Given the description of an element on the screen output the (x, y) to click on. 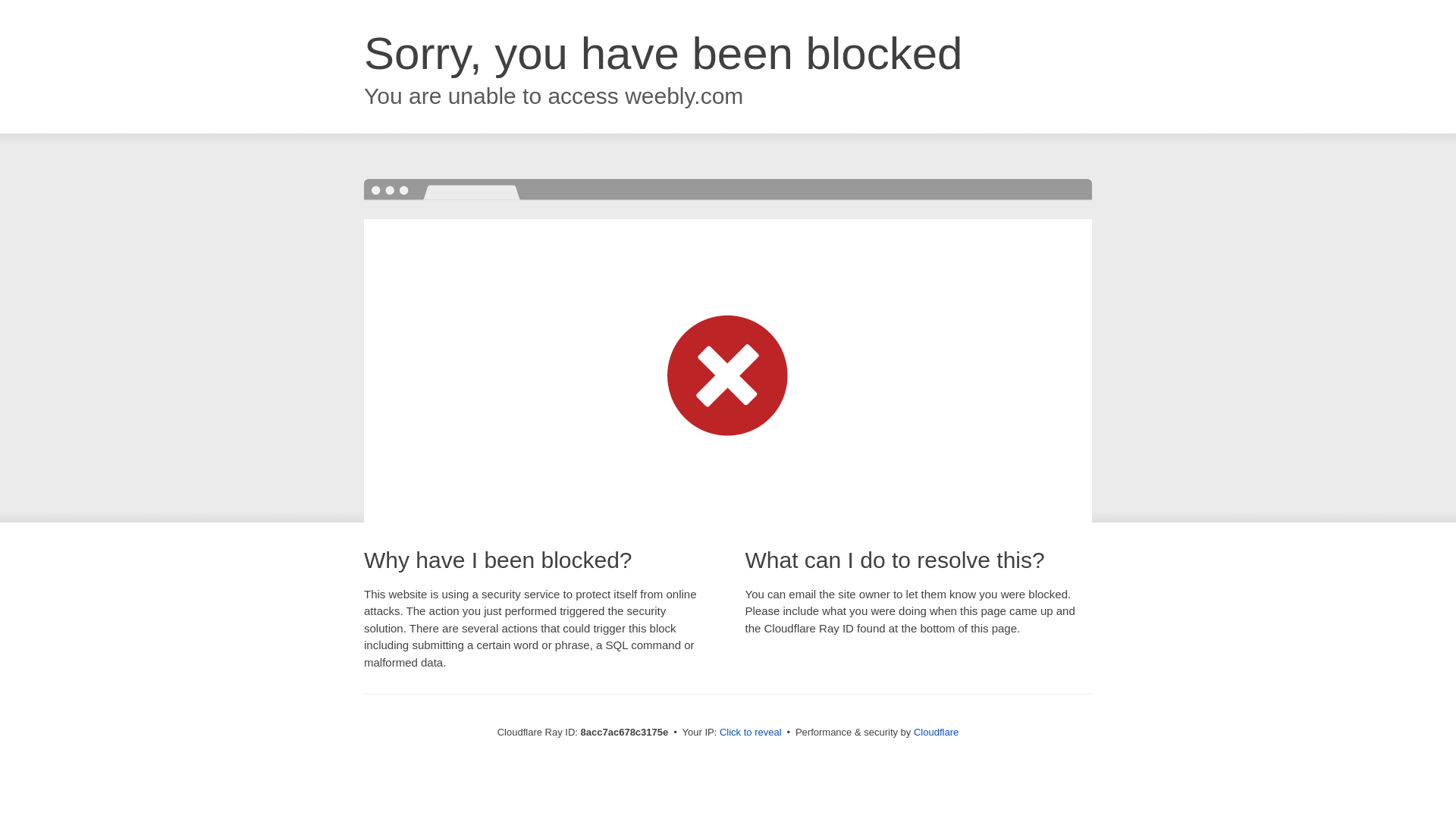
Click to reveal (750, 732)
Cloudflare (936, 731)
